Given the description of an element on the screen output the (x, y) to click on. 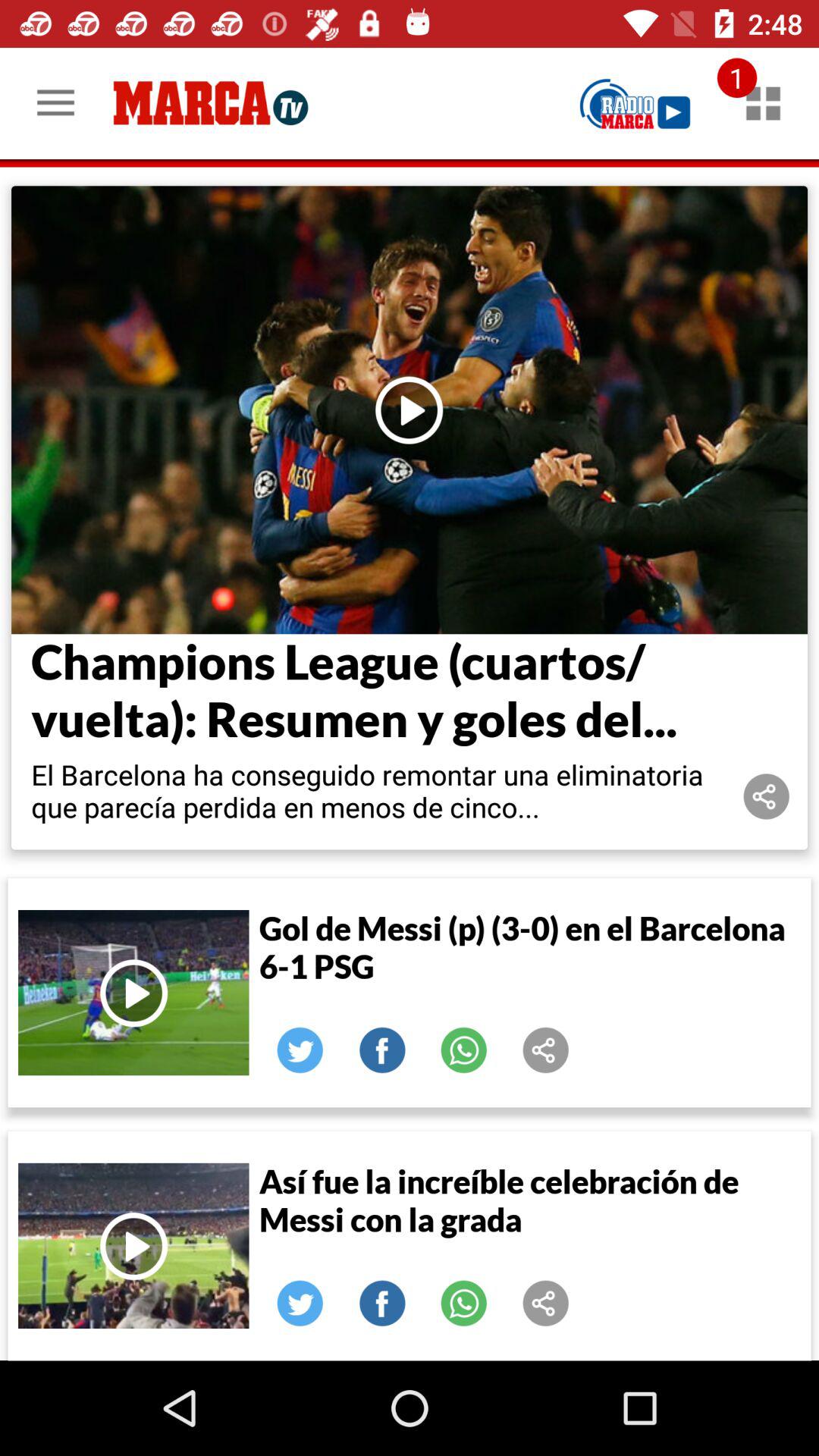
share article (766, 796)
